Given the description of an element on the screen output the (x, y) to click on. 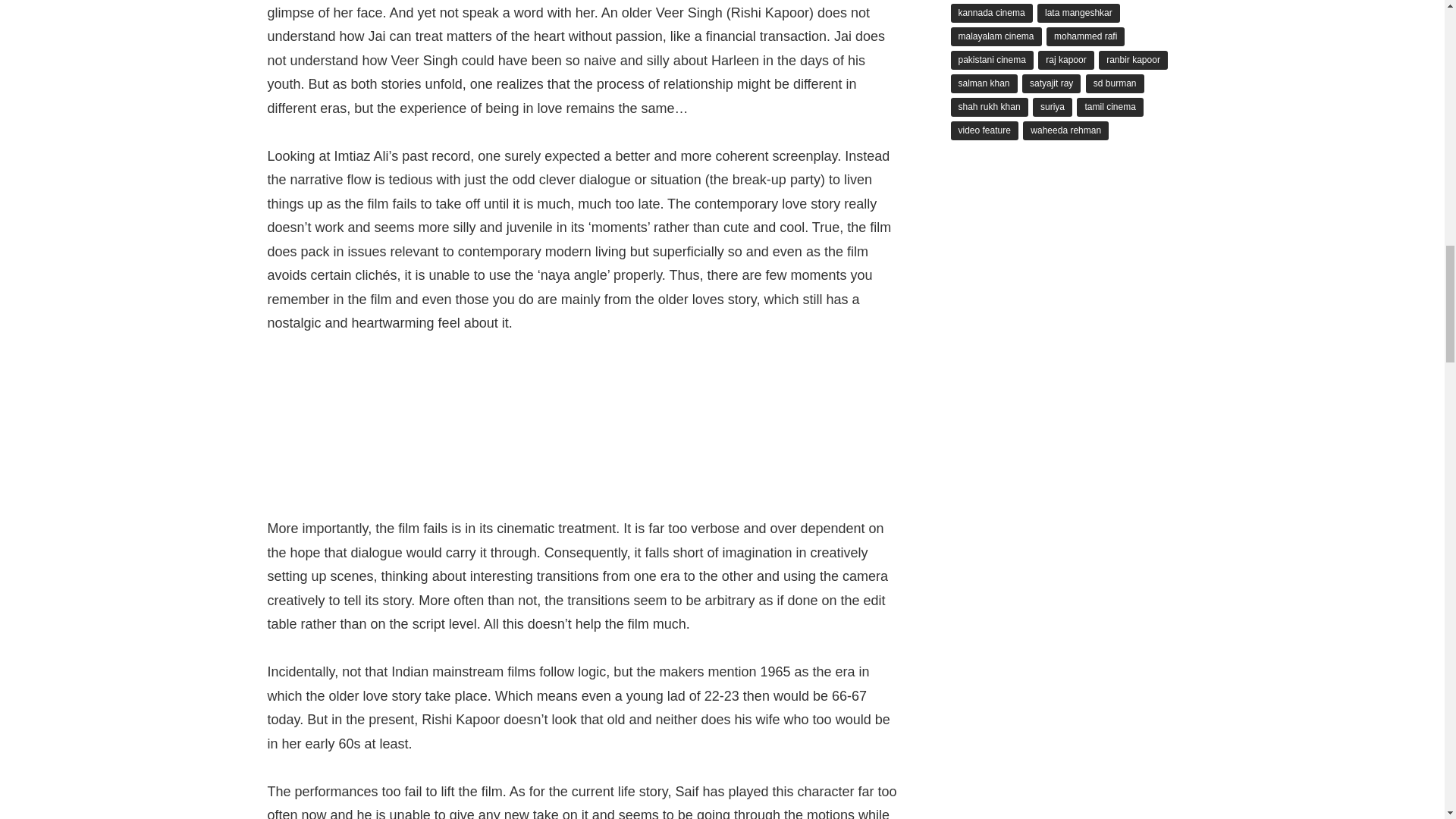
Advertisement (585, 435)
